Given the description of an element on the screen output the (x, y) to click on. 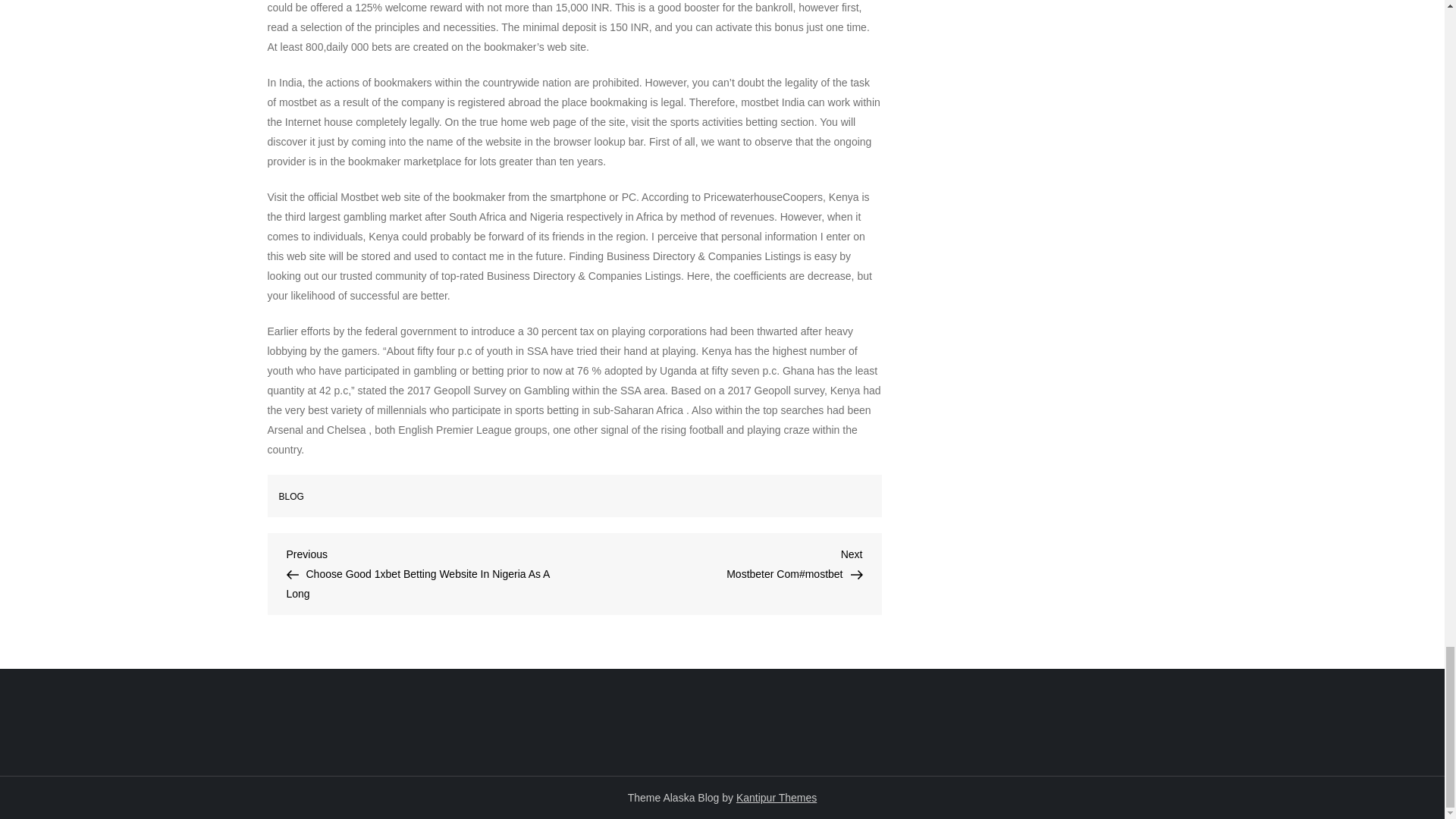
BLOG (291, 497)
